Given the description of an element on the screen output the (x, y) to click on. 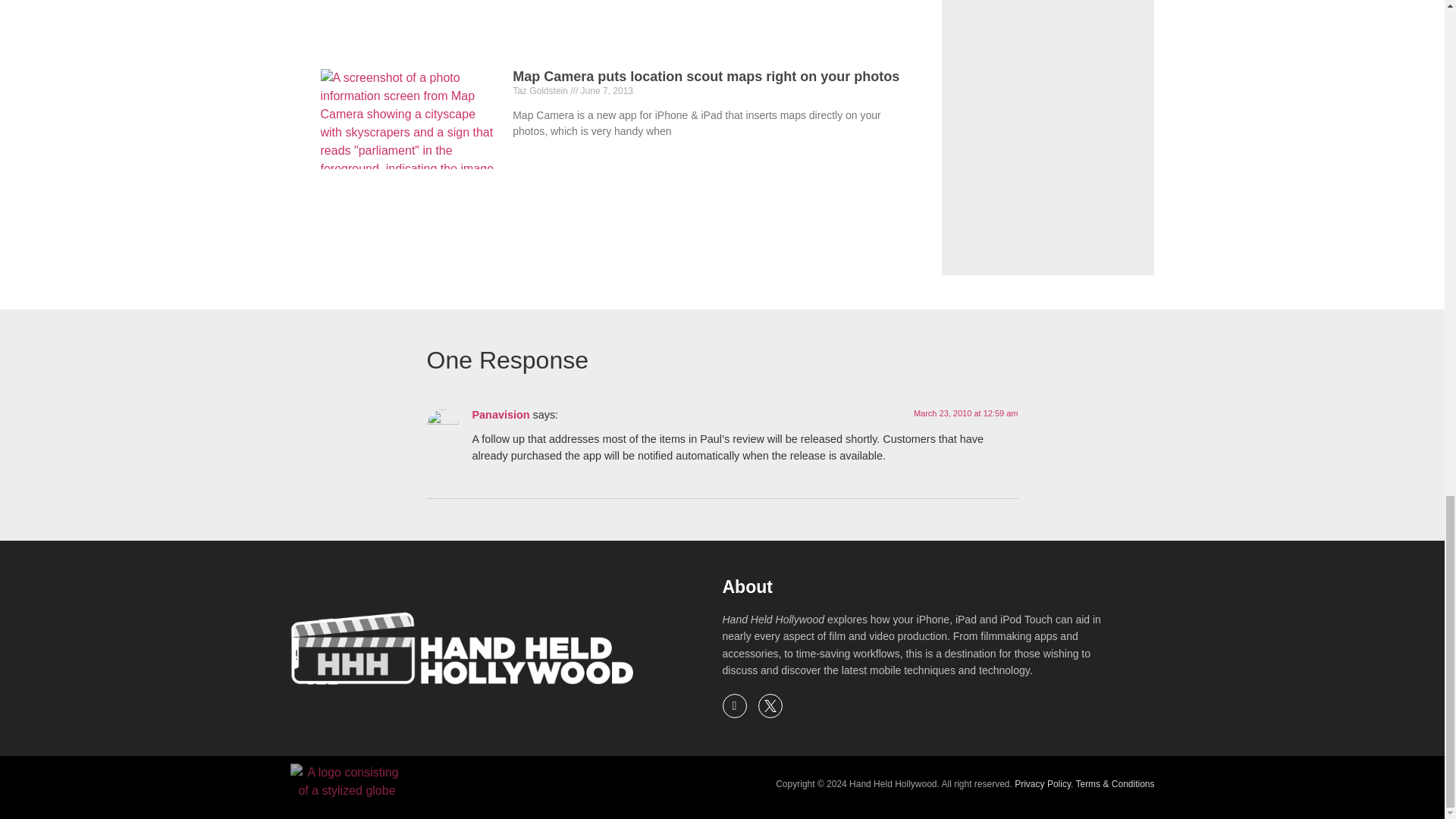
Map Camera puts location scout maps right on your photos (705, 76)
